Given the description of an element on the screen output the (x, y) to click on. 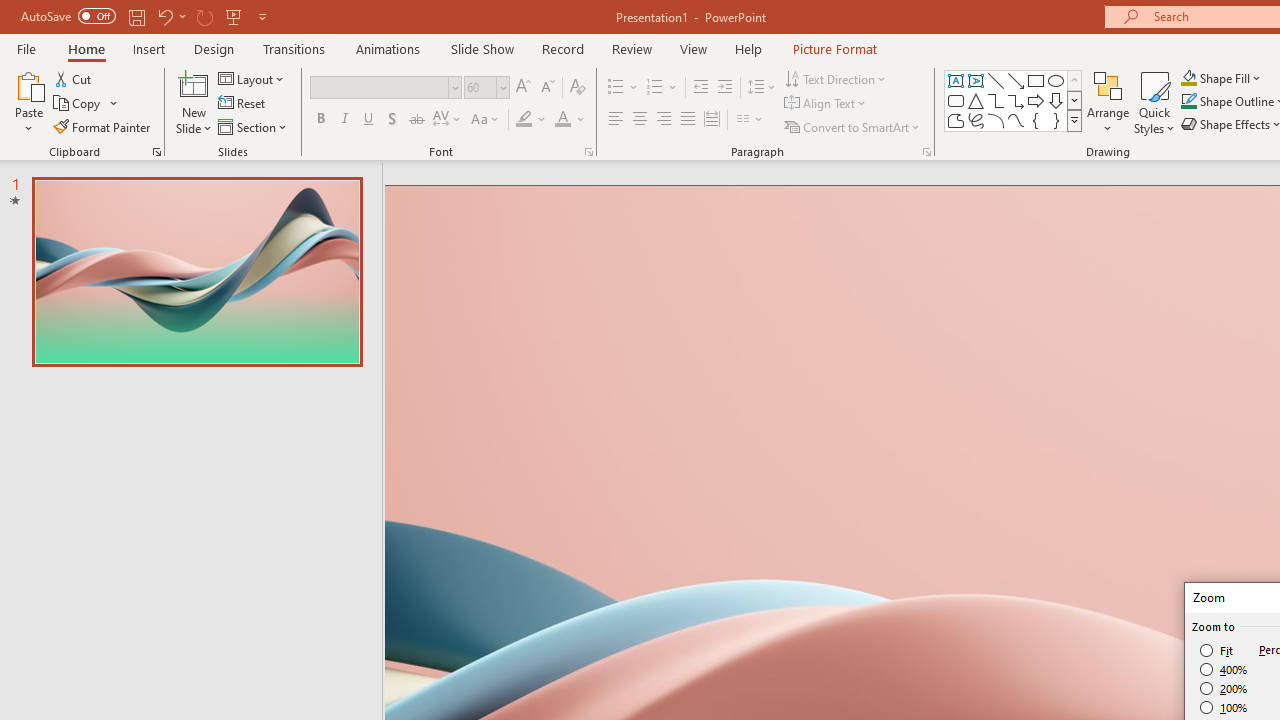
Fit (1217, 650)
